Given the description of an element on the screen output the (x, y) to click on. 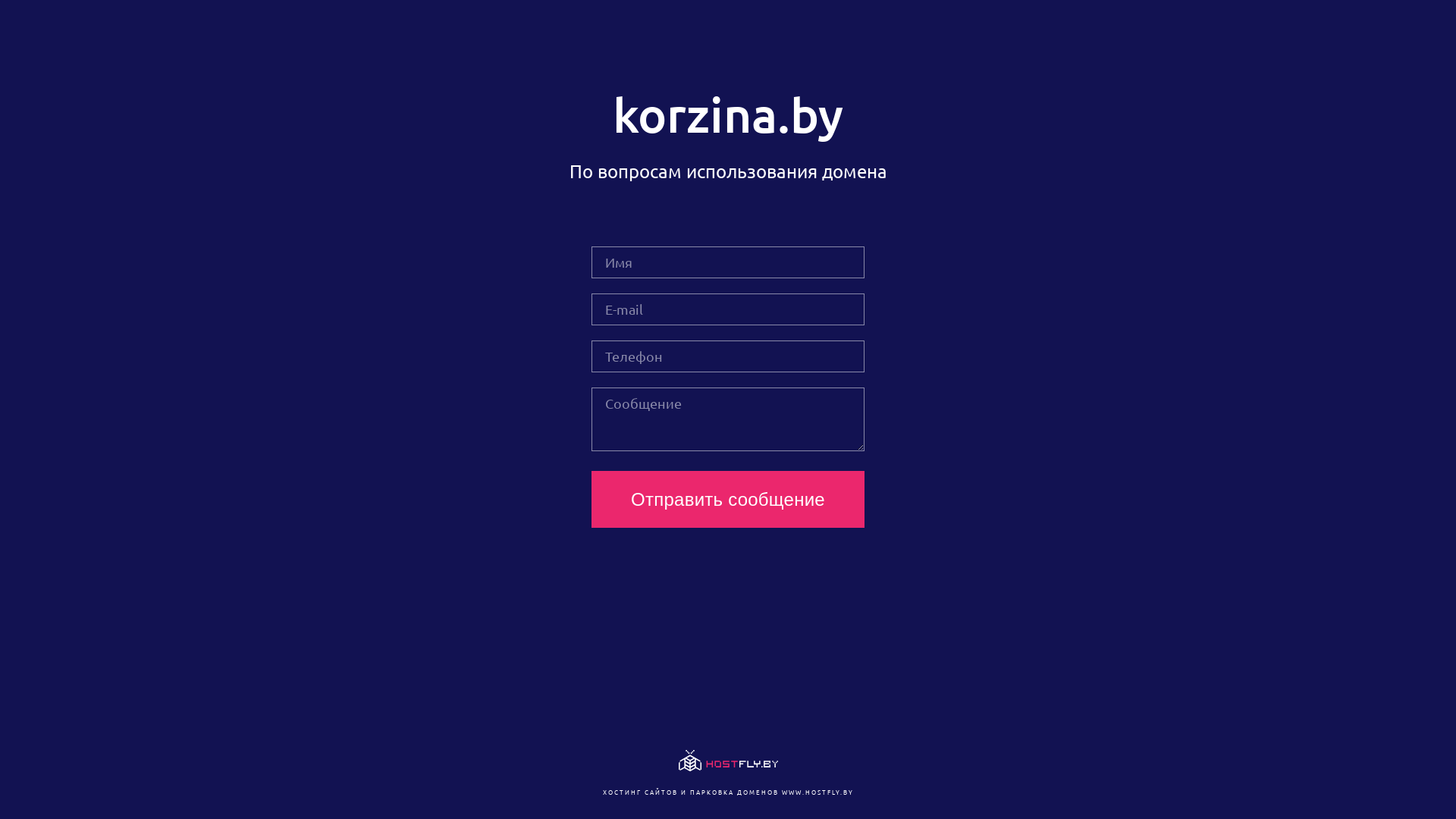
WWW.HOSTFLY.BY Element type: text (817, 791)
